Given the description of an element on the screen output the (x, y) to click on. 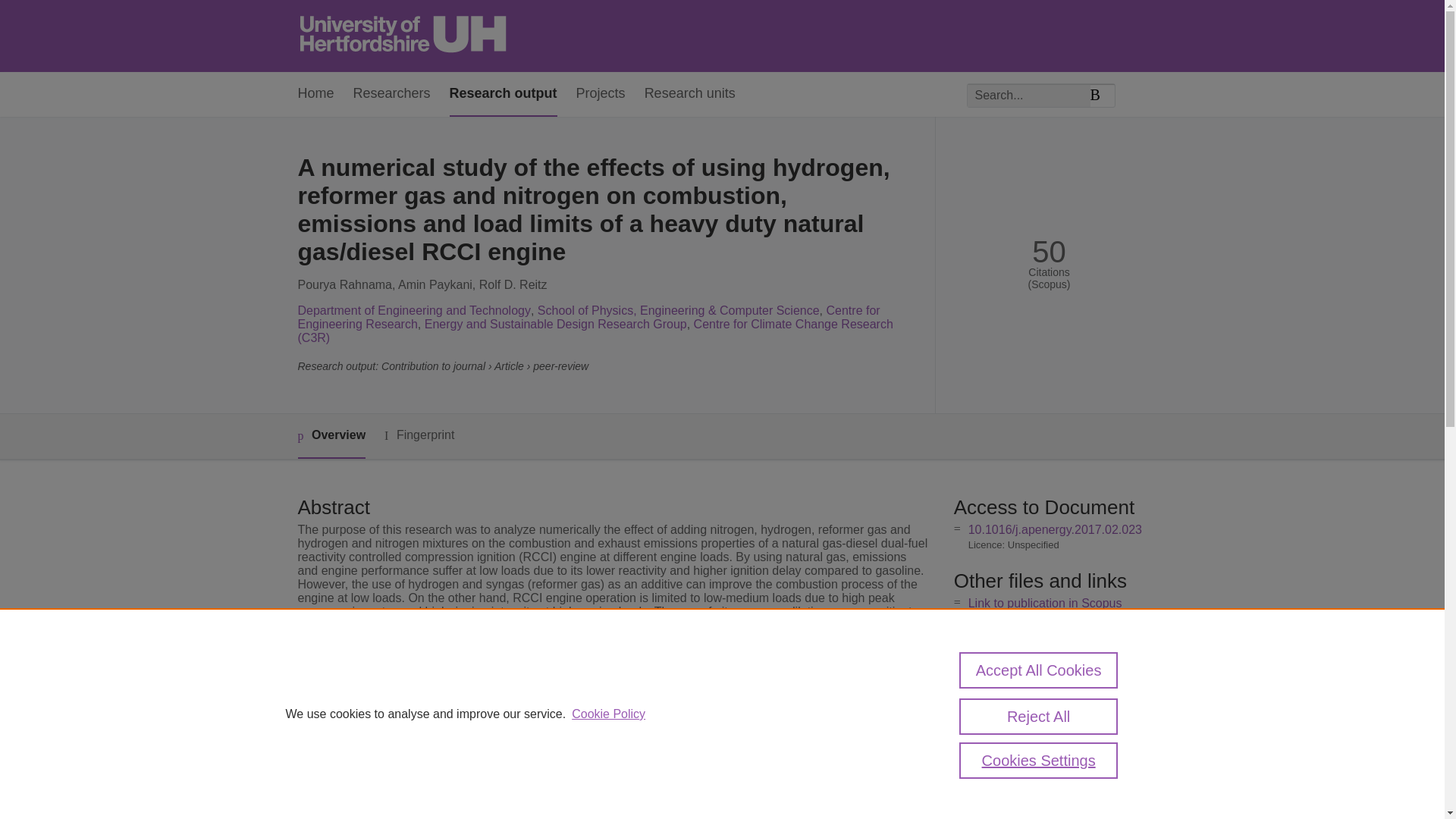
Home (315, 94)
Research output (503, 94)
Fingerprint (419, 435)
Applied Energy (552, 797)
Link to publication in Scopus (1045, 603)
Centre for Engineering Research (588, 316)
Department of Engineering and Technology (413, 309)
Energy and Sustainable Design Research Group (556, 323)
Projects (601, 94)
Overview (331, 436)
Researchers (391, 94)
Research units (690, 94)
